Given the description of an element on the screen output the (x, y) to click on. 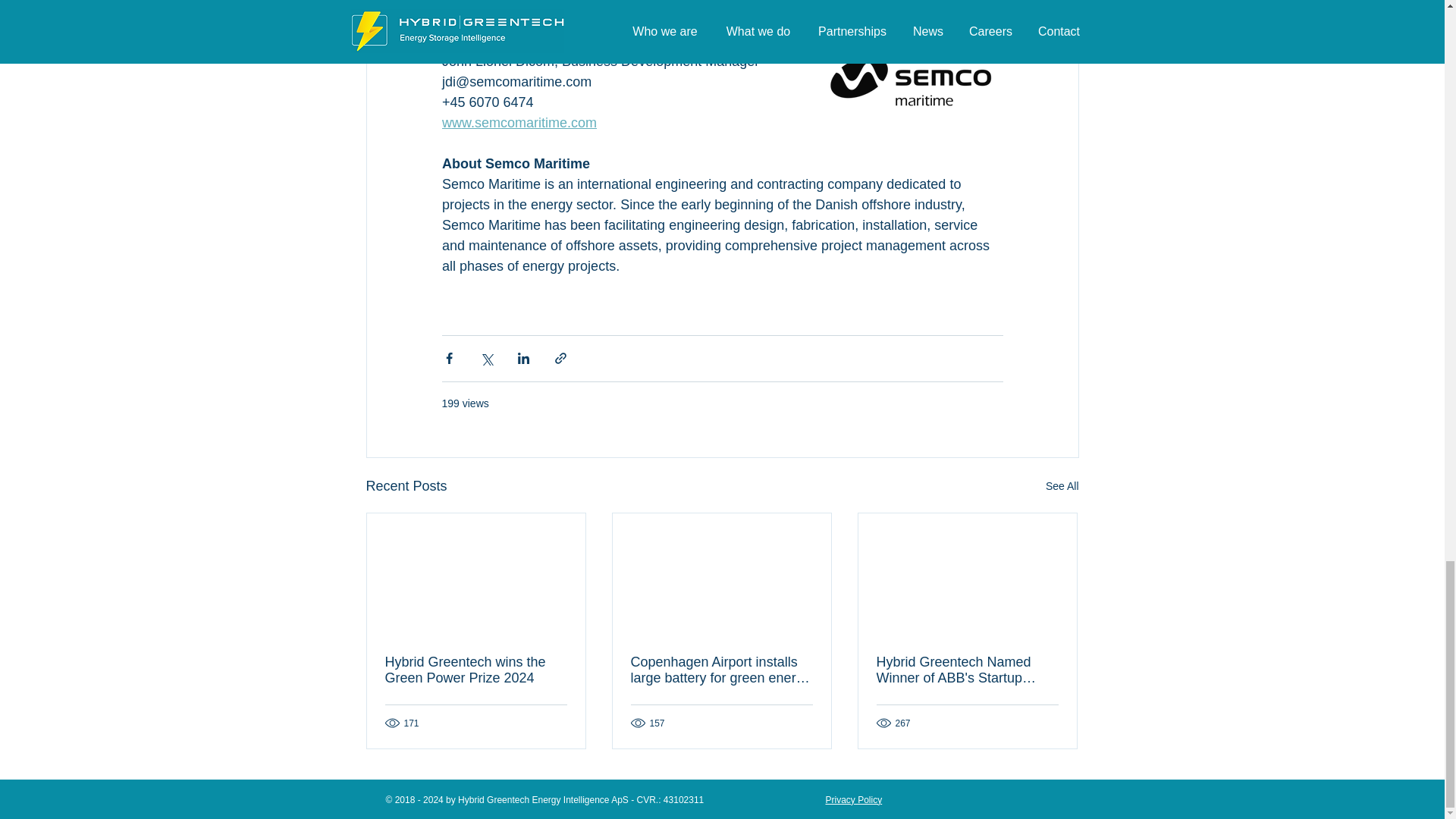
Hybrid Greentech wins the Green Power Prize 2024 (476, 670)
Privacy Policy (853, 799)
See All (1061, 486)
www.semcomaritime.com (518, 122)
